Given the description of an element on the screen output the (x, y) to click on. 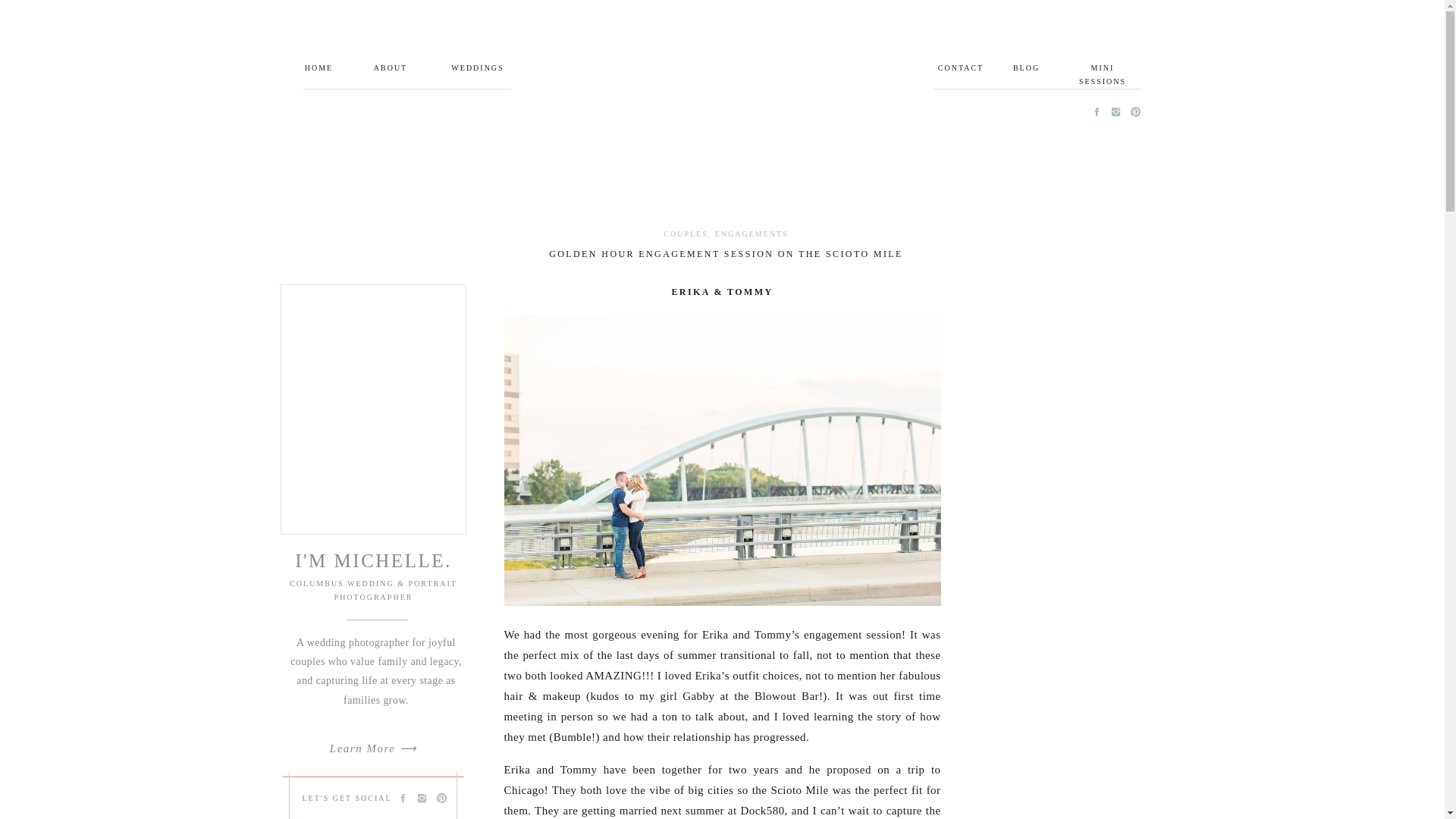
ENGAGEMENTS (751, 234)
MINI SESSIONS (1102, 67)
BLOG (1026, 67)
CONTACT (960, 67)
ABOUT (389, 67)
COUPLES (685, 234)
HOME (318, 67)
WEDDINGS (476, 67)
